Given the description of an element on the screen output the (x, y) to click on. 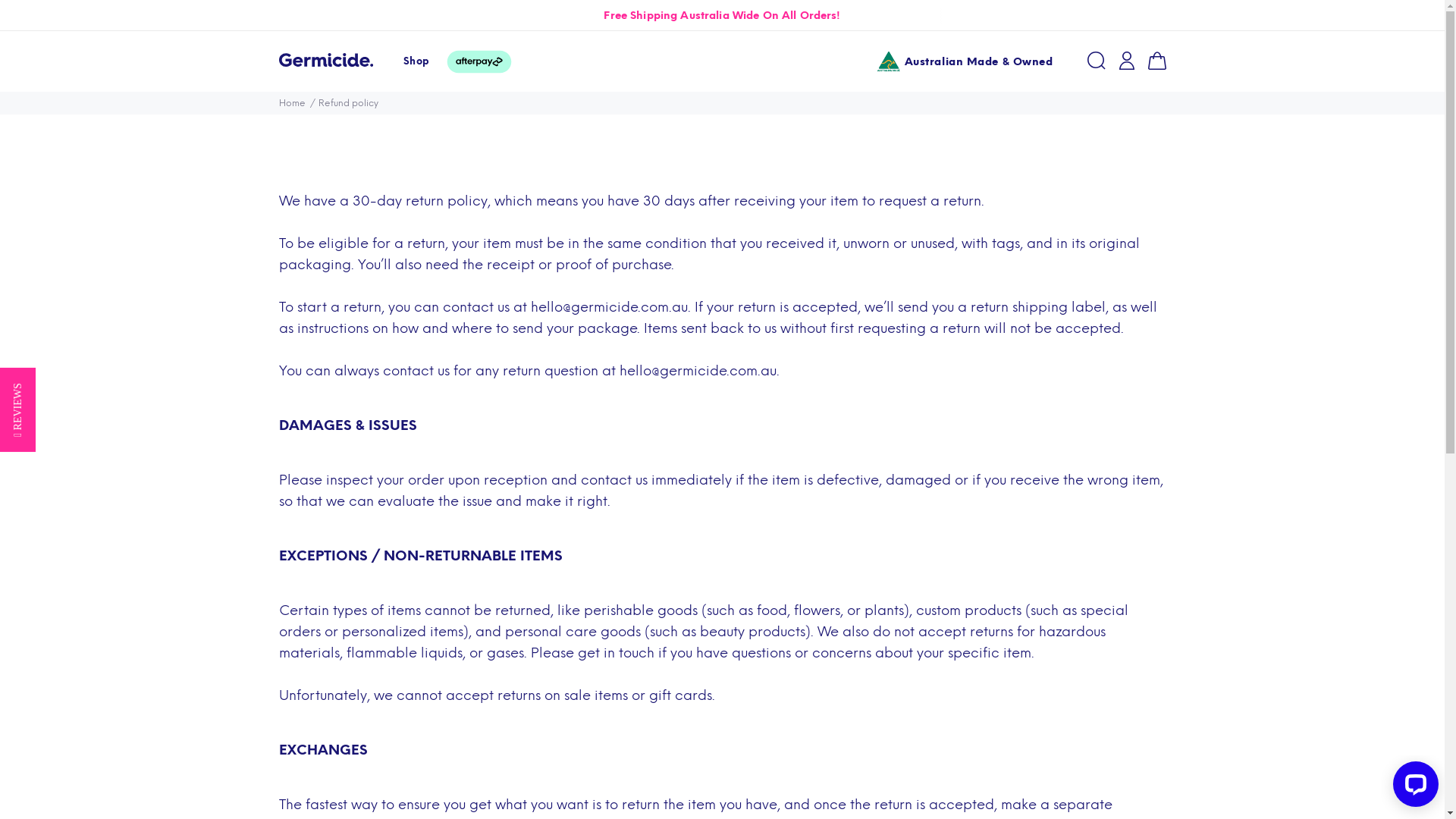
Shop Element type: text (416, 61)
Free Shipping Australia Wide On All Orders! Element type: text (721, 15)
Home Element type: text (292, 102)
